Given the description of an element on the screen output the (x, y) to click on. 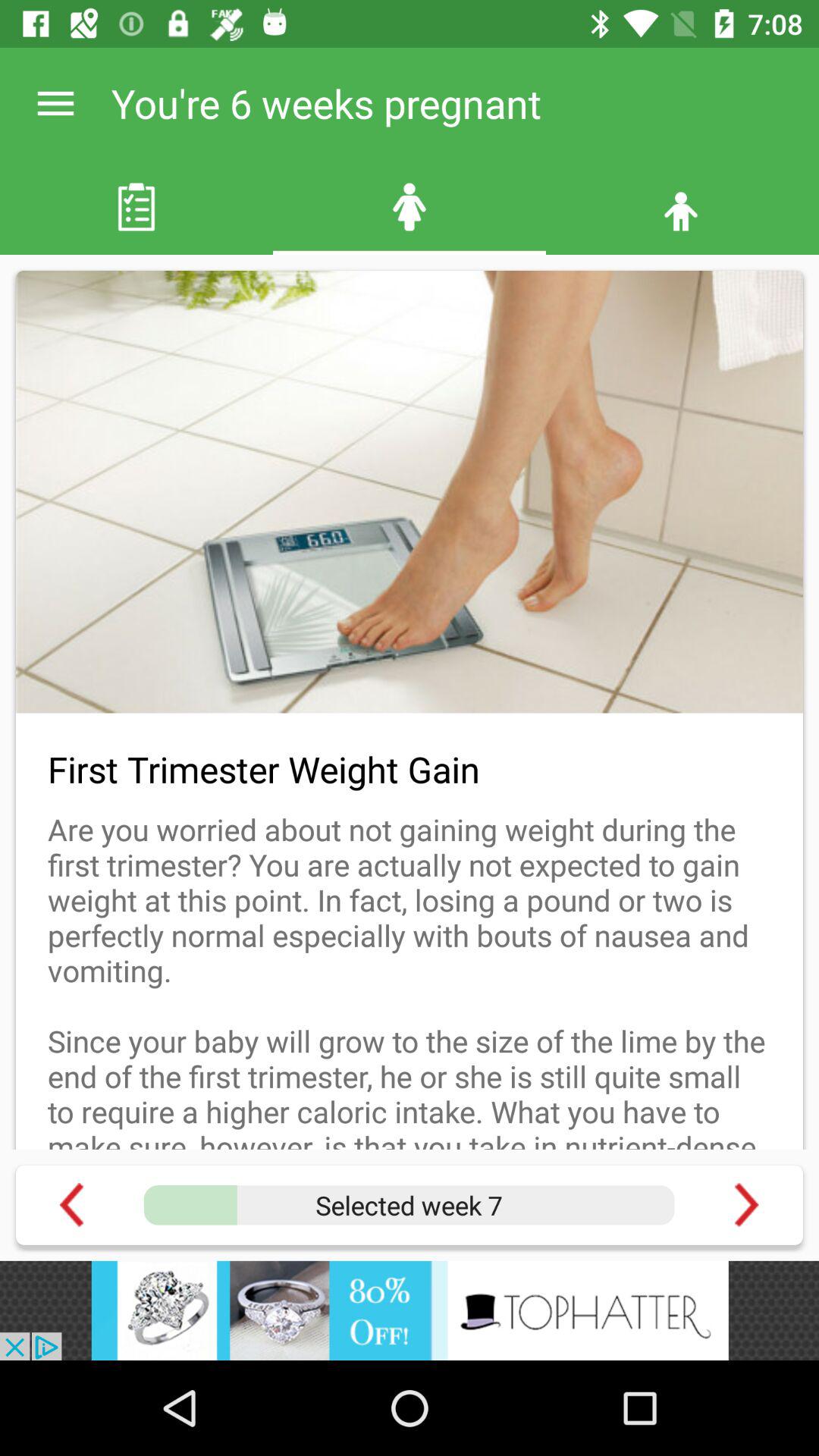
offer tophatter (409, 1310)
